Given the description of an element on the screen output the (x, y) to click on. 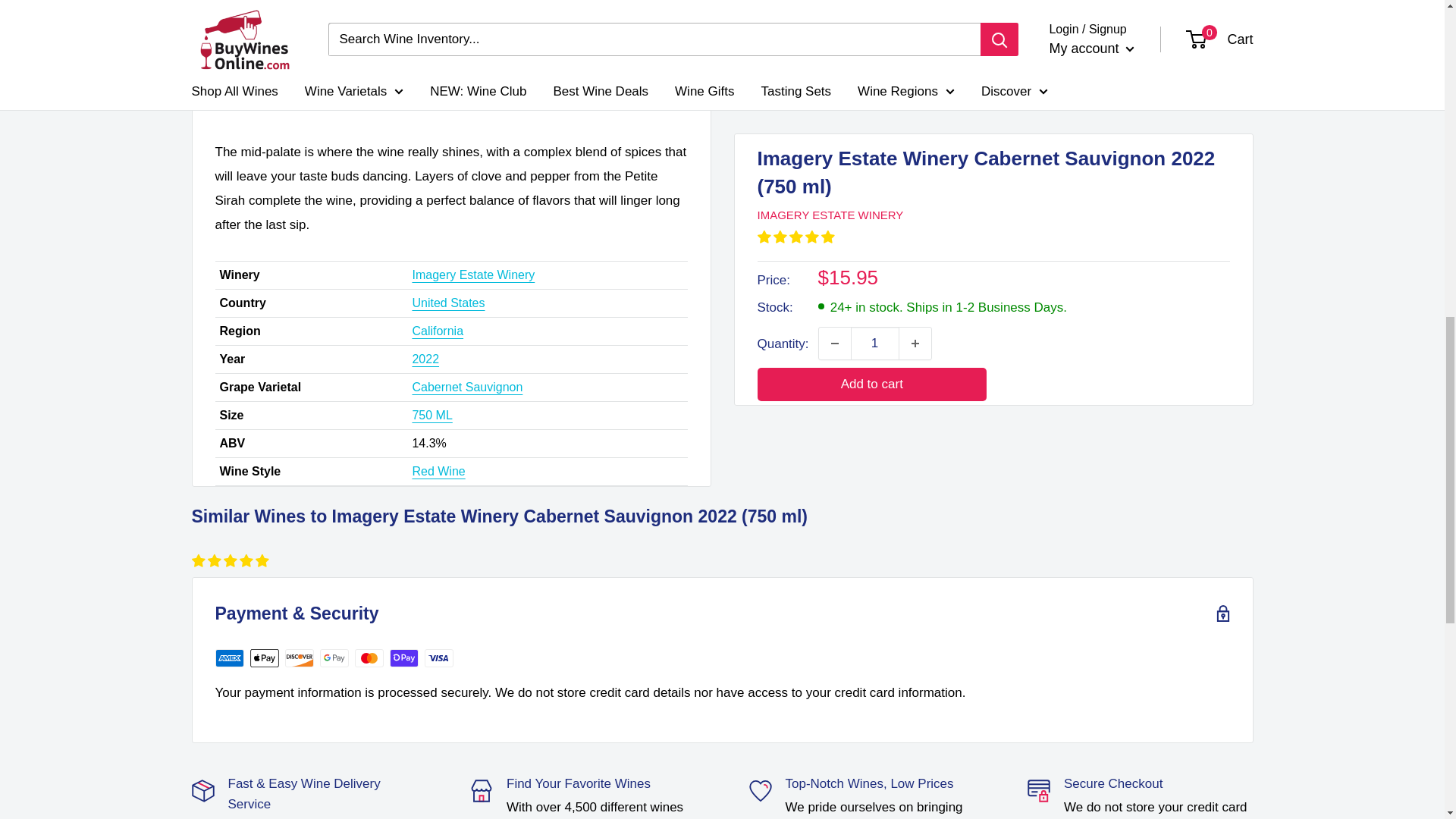
Cabernet Sauvignon Wine Collection (467, 386)
California Region Wine Collection (437, 330)
United States Wine Collection (448, 302)
2022 Vintage Wines (425, 358)
Imagery Estate Winery Wine Collection (473, 274)
750 ML Bottle Wine Collection (431, 414)
Red Wine Collection (438, 471)
